Given the description of an element on the screen output the (x, y) to click on. 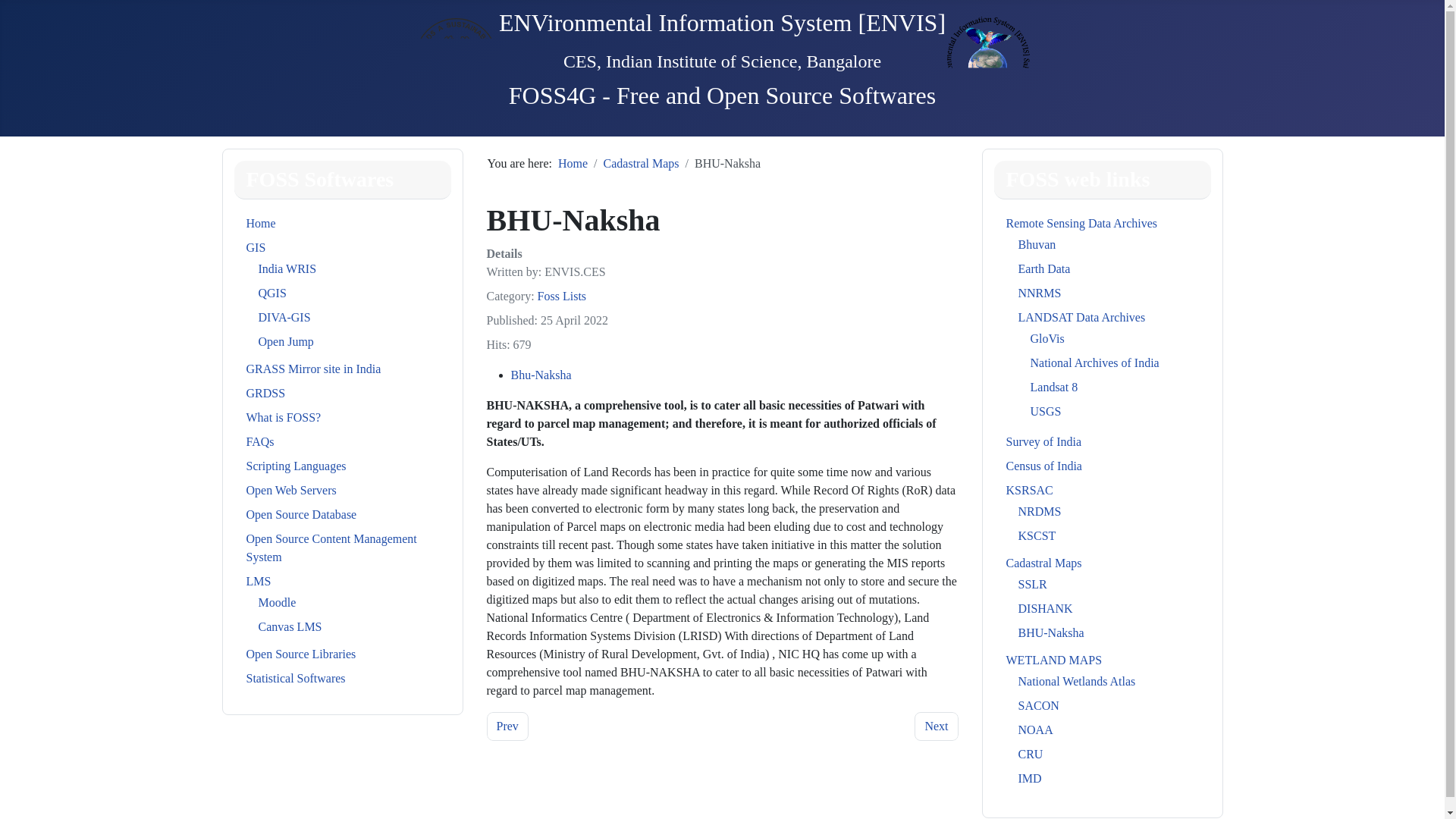
Moodle (276, 602)
FAQs (259, 440)
KSRSAC (1029, 490)
GRASS Mirror site in India (313, 368)
National Archives of India (1093, 362)
Open Web Servers (291, 490)
Open Source Content Management System (331, 547)
Earth Data (1043, 268)
What is FOSS? (283, 417)
India WRIS (286, 268)
